Given the description of an element on the screen output the (x, y) to click on. 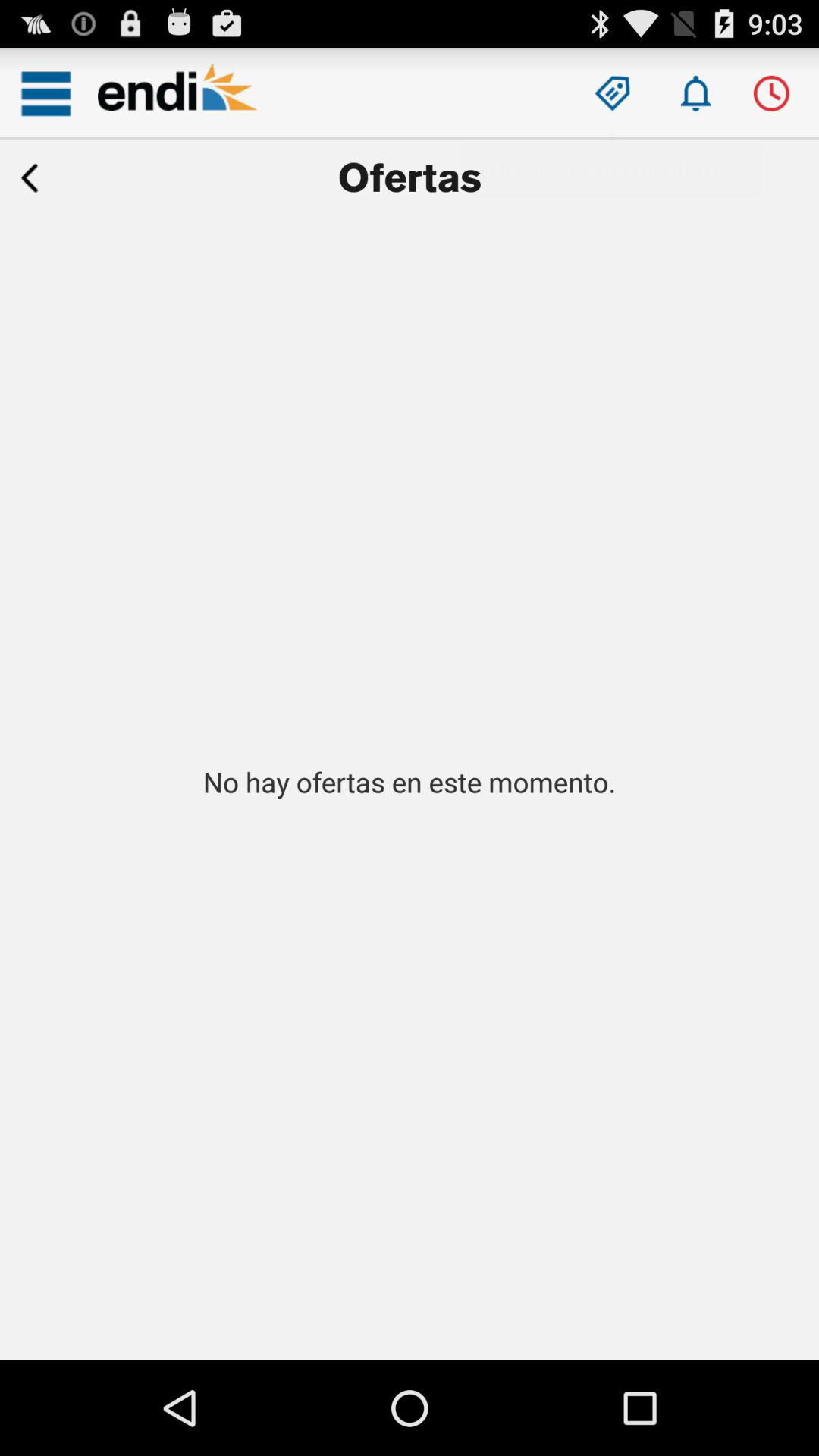
go to previous (29, 178)
